Given the description of an element on the screen output the (x, y) to click on. 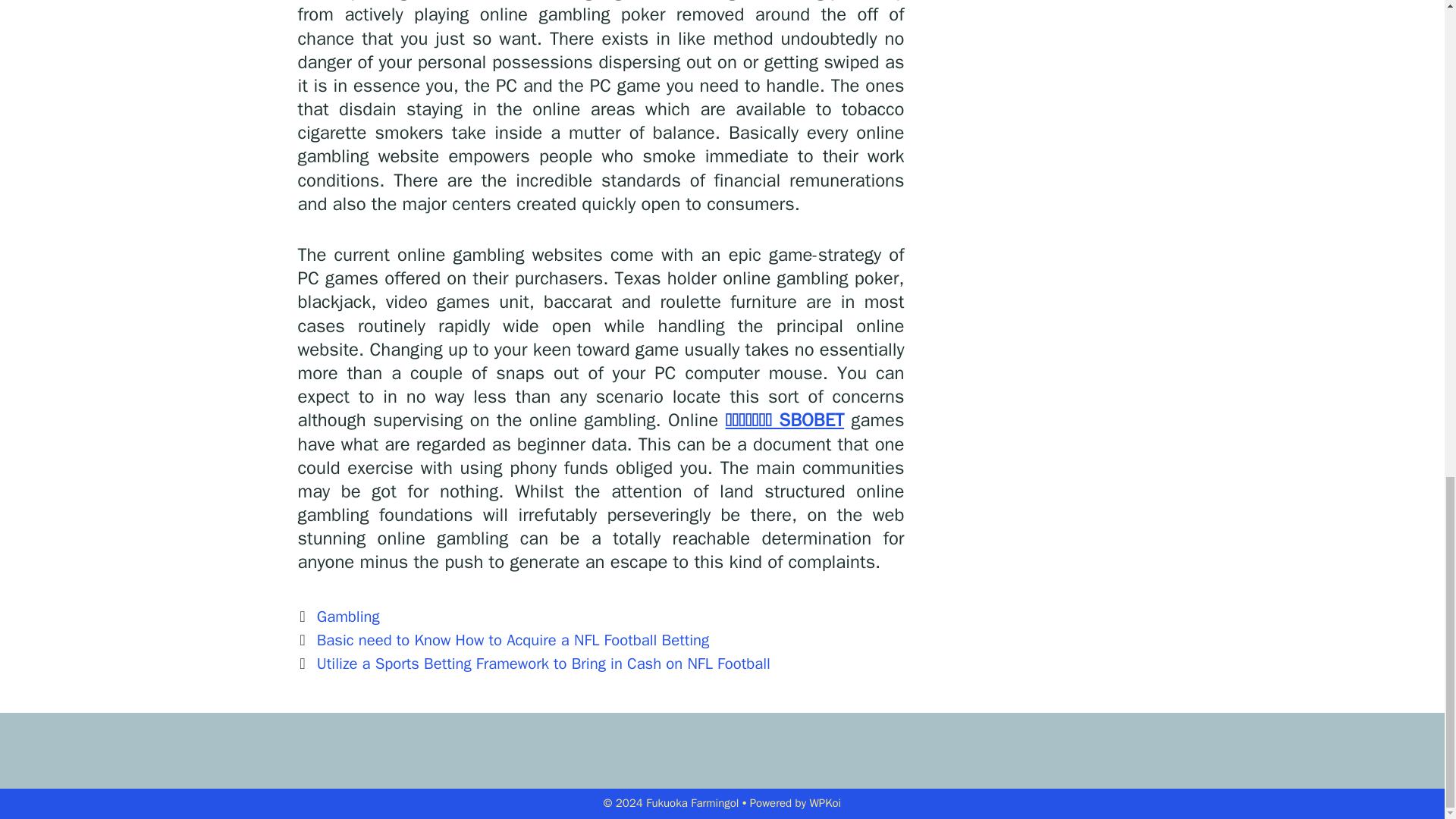
Gambling (348, 616)
Basic need to Know How to Acquire a NFL Football Betting (513, 639)
Previous (503, 639)
WPKoi (825, 802)
Next (533, 663)
